Given the description of an element on the screen output the (x, y) to click on. 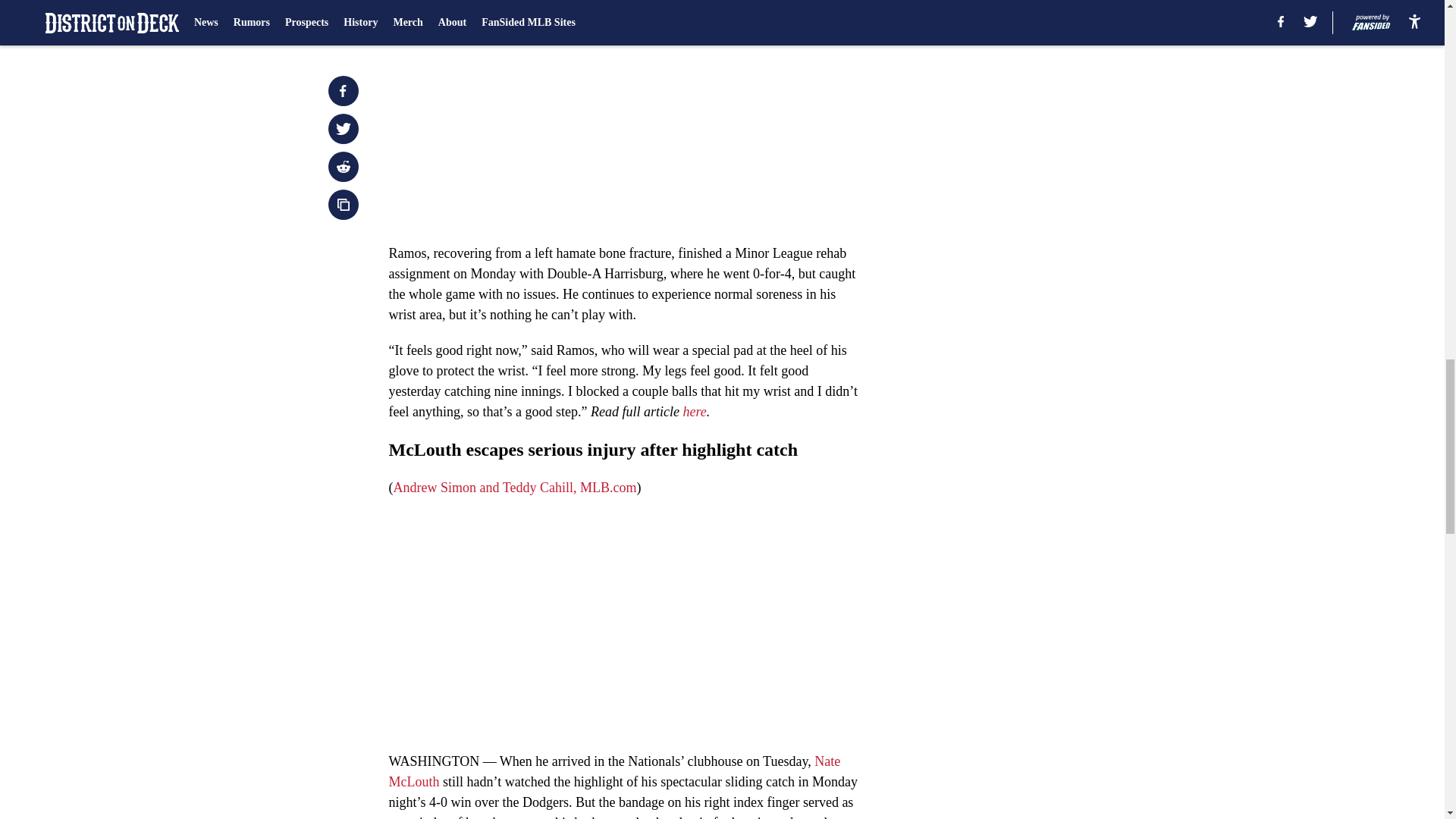
Andrew Simon and Teddy Cahill, MLB.com (514, 487)
here (694, 411)
Nate McLouth (614, 771)
